Given the description of an element on the screen output the (x, y) to click on. 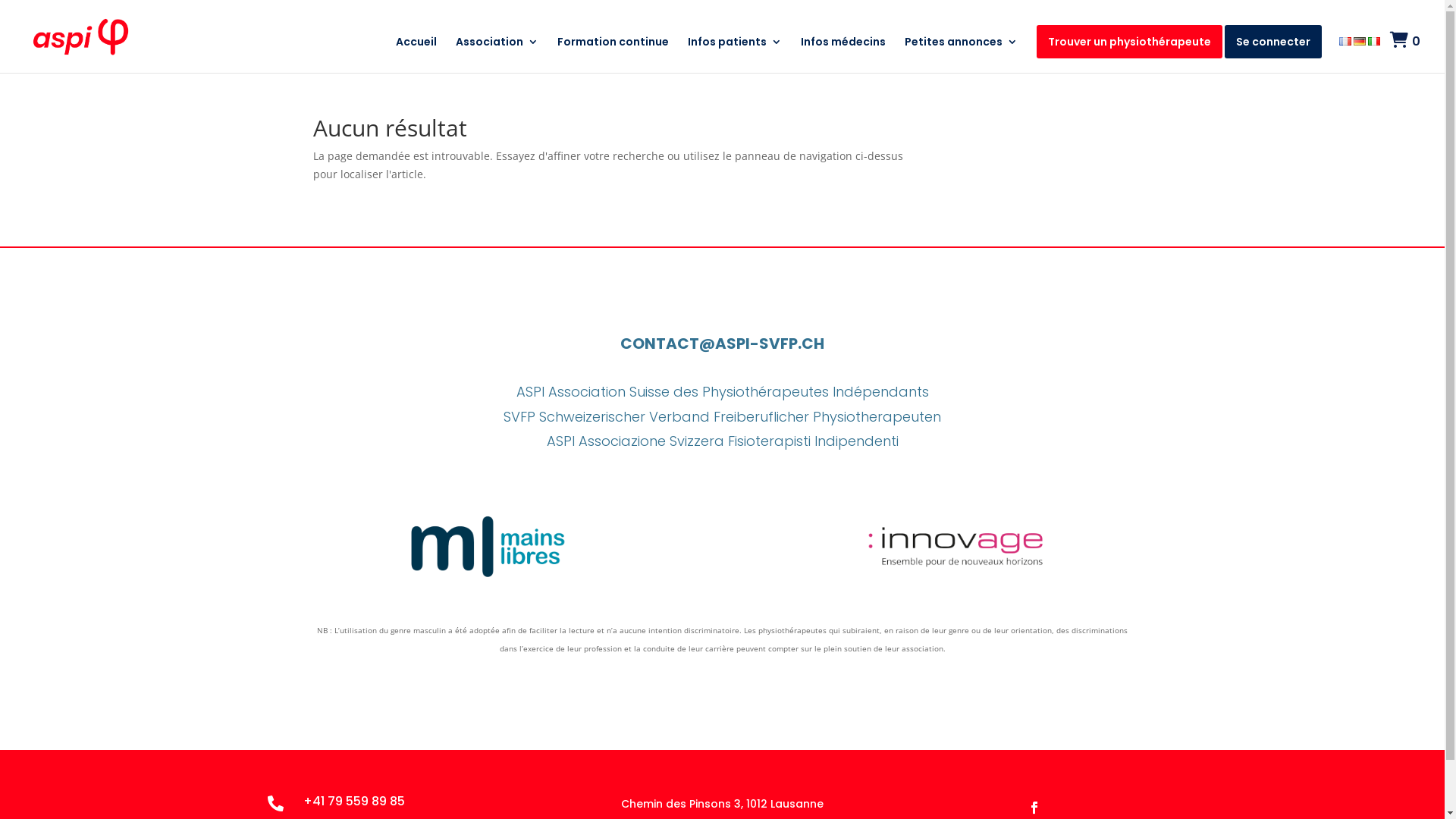
Accueil Element type: text (415, 54)
3-removebg-preview (1) Element type: hover (956, 546)
CONTACT@ASPI-SVFP.CH Element type: text (722, 343)
0 Element type: text (1405, 51)
Association Element type: text (496, 54)
Infos patients Element type: text (734, 54)
2-removebg-preview (1) Element type: hover (487, 549)
Petites annonces Element type: text (960, 54)
Se connecter Element type: text (1272, 41)
Formation continue Element type: text (612, 54)
